Given the description of an element on the screen output the (x, y) to click on. 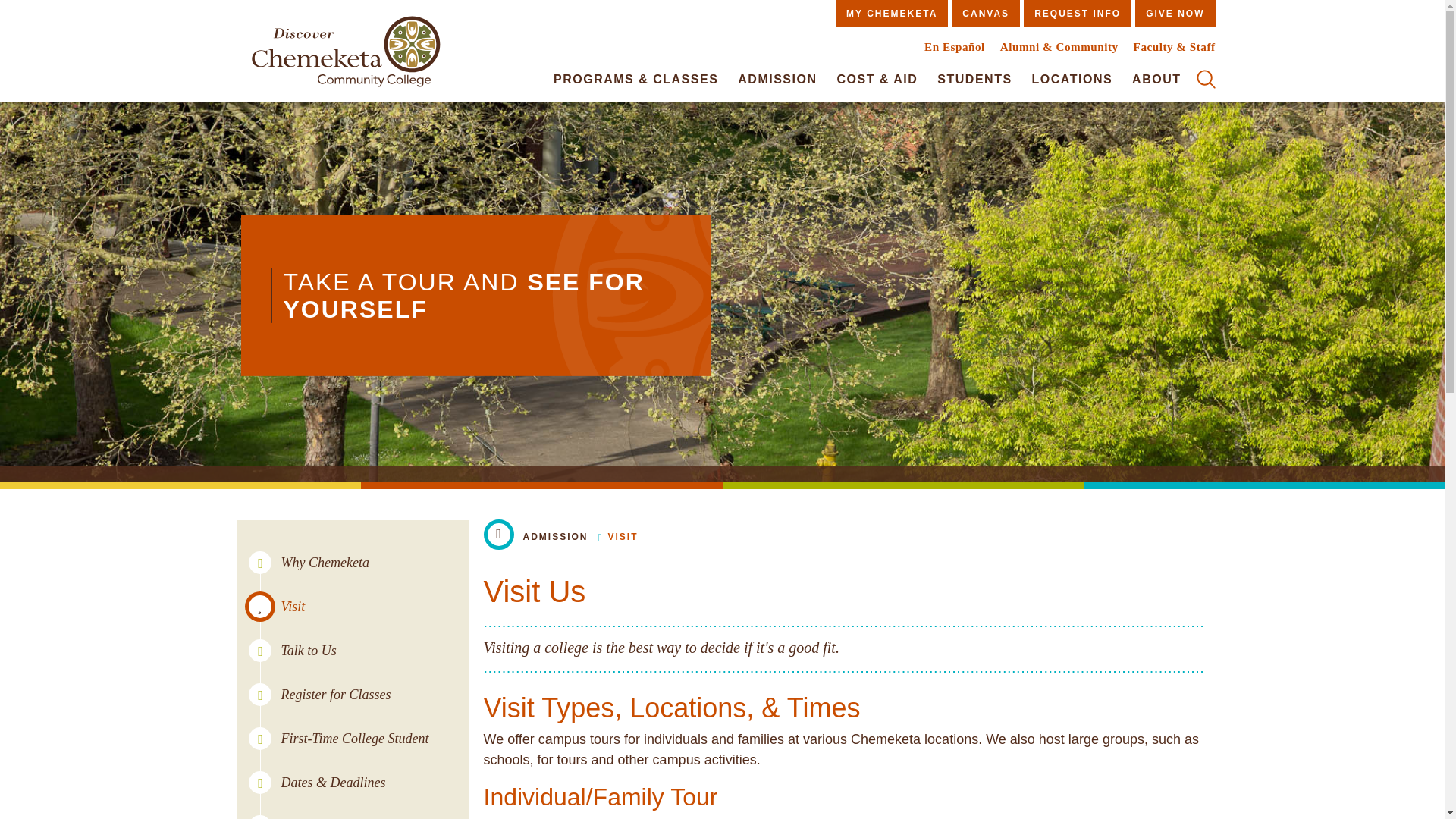
DISCOVER CHEMEKETA COMMUNITY COLLEGE (344, 54)
ADMISSION (777, 79)
50 Years at Chemeketa Community College (344, 54)
STUDENTS (974, 79)
